Given the description of an element on the screen output the (x, y) to click on. 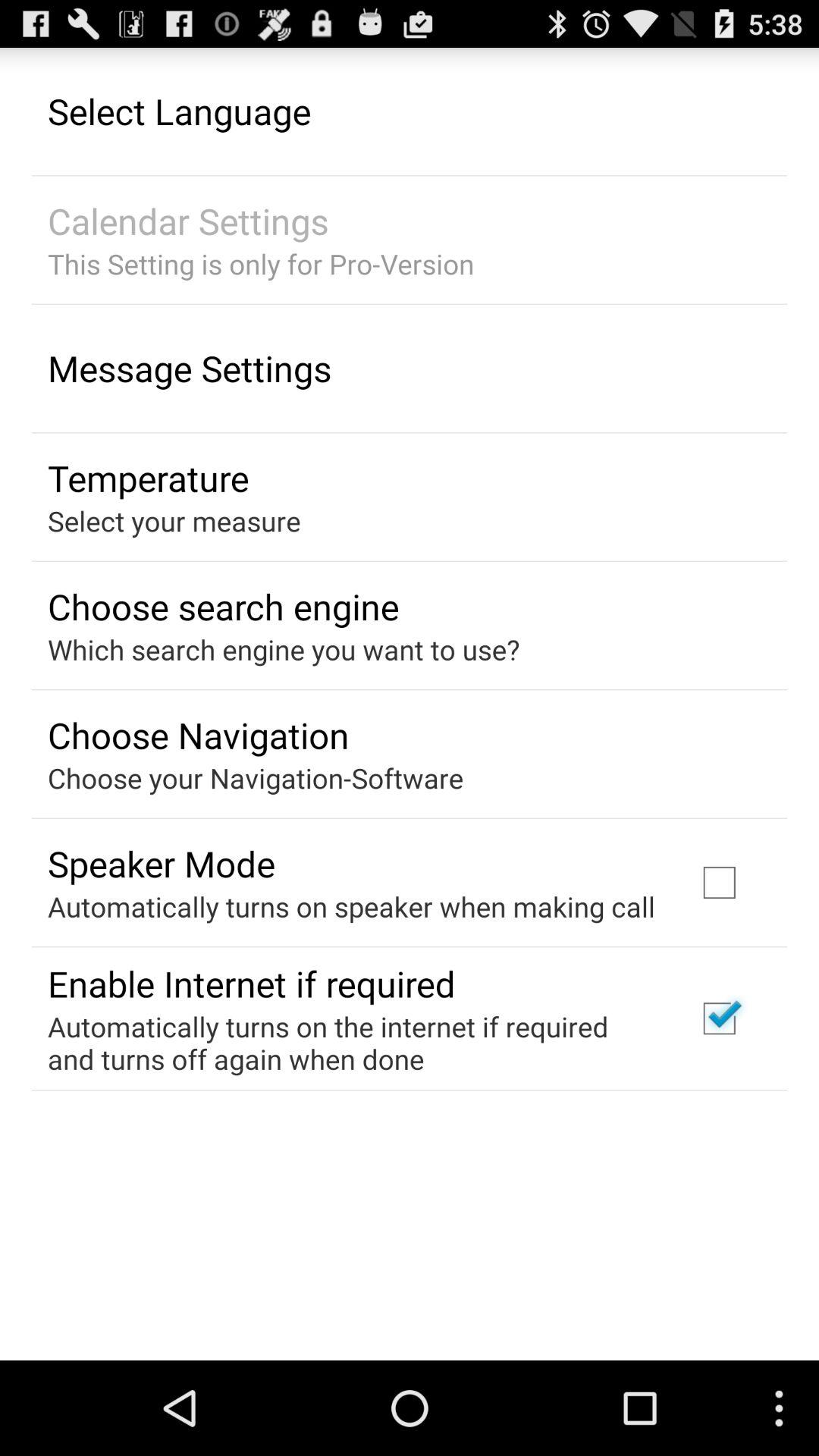
click on the first check box (719, 882)
